Given the description of an element on the screen output the (x, y) to click on. 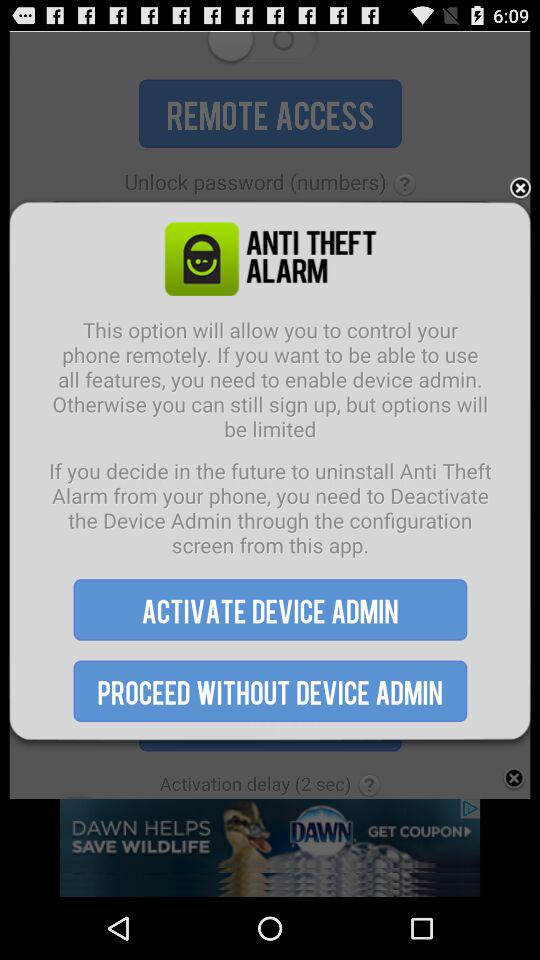
click icon at the bottom (270, 690)
